Given the description of an element on the screen output the (x, y) to click on. 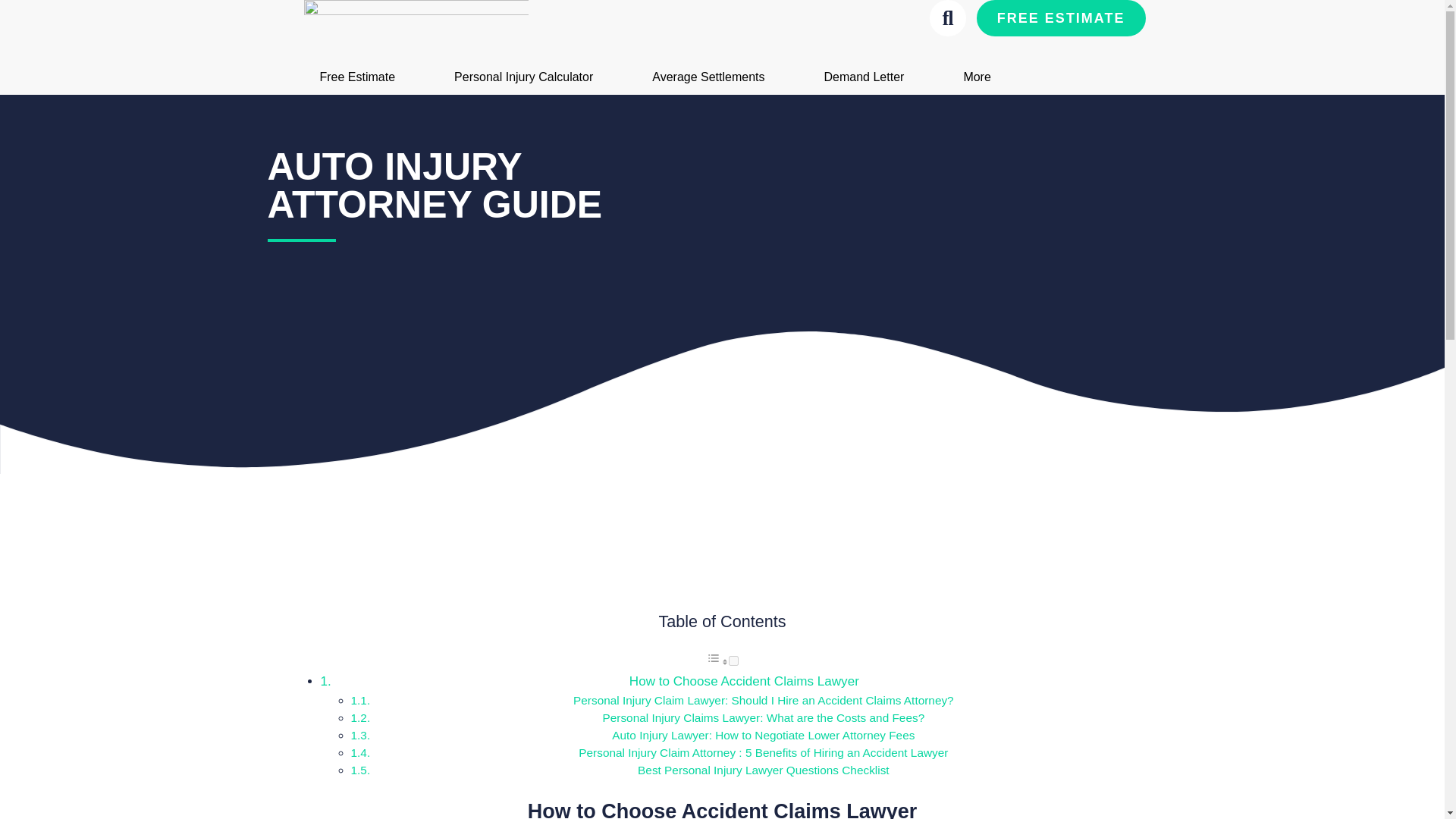
on (733, 660)
More (976, 77)
Personal Injury Calculator (524, 77)
Demand Letter (864, 77)
How to Choose Accident Claims Lawyer (743, 681)
Auto Injury Lawyer: How to Negotiate Lower Attorney Fees (762, 735)
Free Estimate (357, 77)
Best Personal Injury Lawyer Questions Checklist (763, 769)
